Given the description of an element on the screen output the (x, y) to click on. 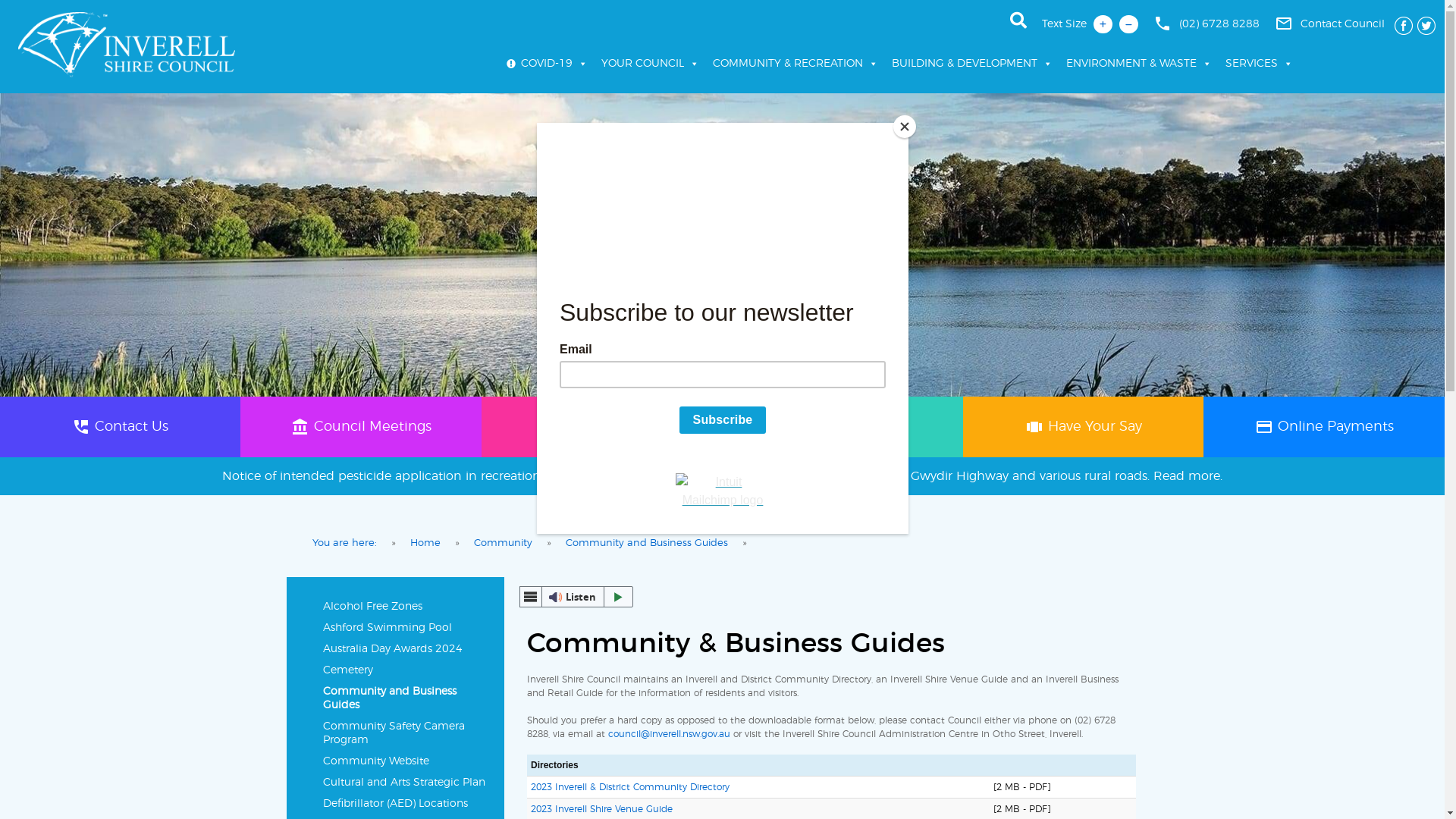
Home Element type: text (425, 543)
SERVICES Element type: text (1258, 63)
Community Element type: text (502, 543)
Community and Business Guides Element type: text (406, 698)
perm_phone_msgContact Us Element type: text (120, 426)
Cultural and Arts Strategic Plan Element type: text (406, 782)
Listen Element type: text (576, 596)
COVID-19 Element type: text (546, 63)
Community Safety Camera Program Element type: text (406, 732)
Ashford Swimming Pool Element type: text (406, 627)
Community Website Element type: text (406, 761)
account_balanceCouncil Meetings Element type: text (360, 426)
ENVIRONMENT & WASTE Element type: text (1138, 63)
council@inverell.nsw.gov.au Element type: text (669, 733)
YOUR COUNCIL Element type: text (650, 63)
Defibrillator (AED) Locations Element type: text (406, 803)
view_carouselHave Your Say Element type: text (1083, 426)
Australia Day Awards 2024 Element type: text (406, 648)
2023 Inverell Shire Venue Guide Element type: text (601, 808)
paymentOnline Payments Element type: text (1323, 426)
mail_outline Contact Council Element type: text (1329, 23)
descriptionFind a Form Element type: text (841, 426)
phone (02) 6728 8288 Element type: text (1206, 23)
COMMUNITY & RECREATION Element type: text (795, 63)
Alcohol Free Zones Element type: text (406, 606)
BUILDING & DEVELOPMENT Element type: text (971, 63)
You are here: Element type: text (344, 543)
Community and Business Guides Element type: text (646, 543)
Cemetery Element type: text (406, 670)
webReader menu Element type: hover (530, 596)
local_libraryPublic Library Element type: text (601, 426)
2023 Inverell & District Community Directory Element type: text (629, 786)
